Given the description of an element on the screen output the (x, y) to click on. 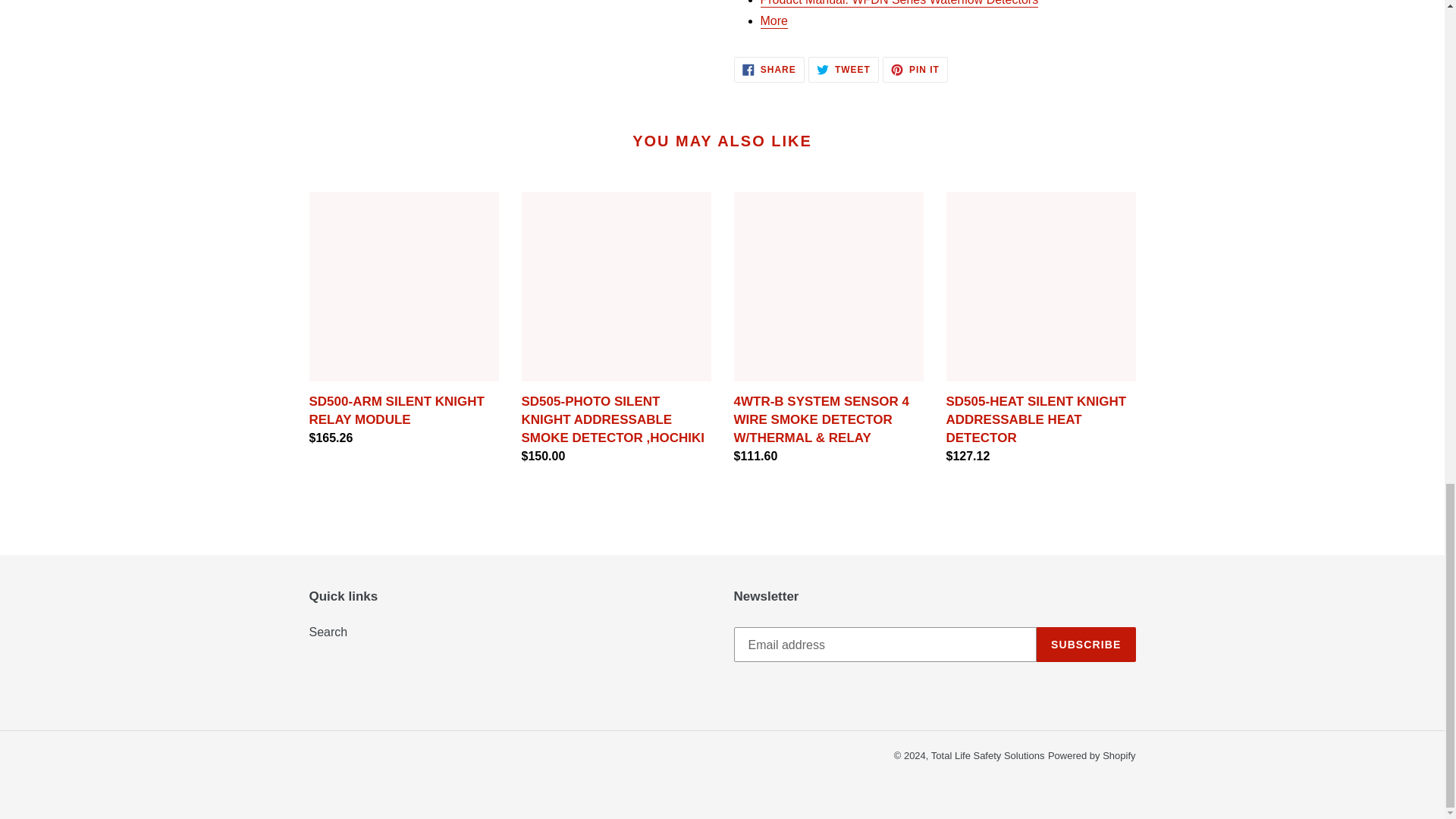
More (769, 69)
Product Manual: WFDN Series Waterflow Detectors (843, 69)
Powered by Shopify (773, 21)
SUBSCRIBE (899, 3)
Total Life Safety Solutions (914, 69)
Search (1091, 755)
Product Manual: WFDN Series Waterflow Detectors (1085, 644)
